Given the description of an element on the screen output the (x, y) to click on. 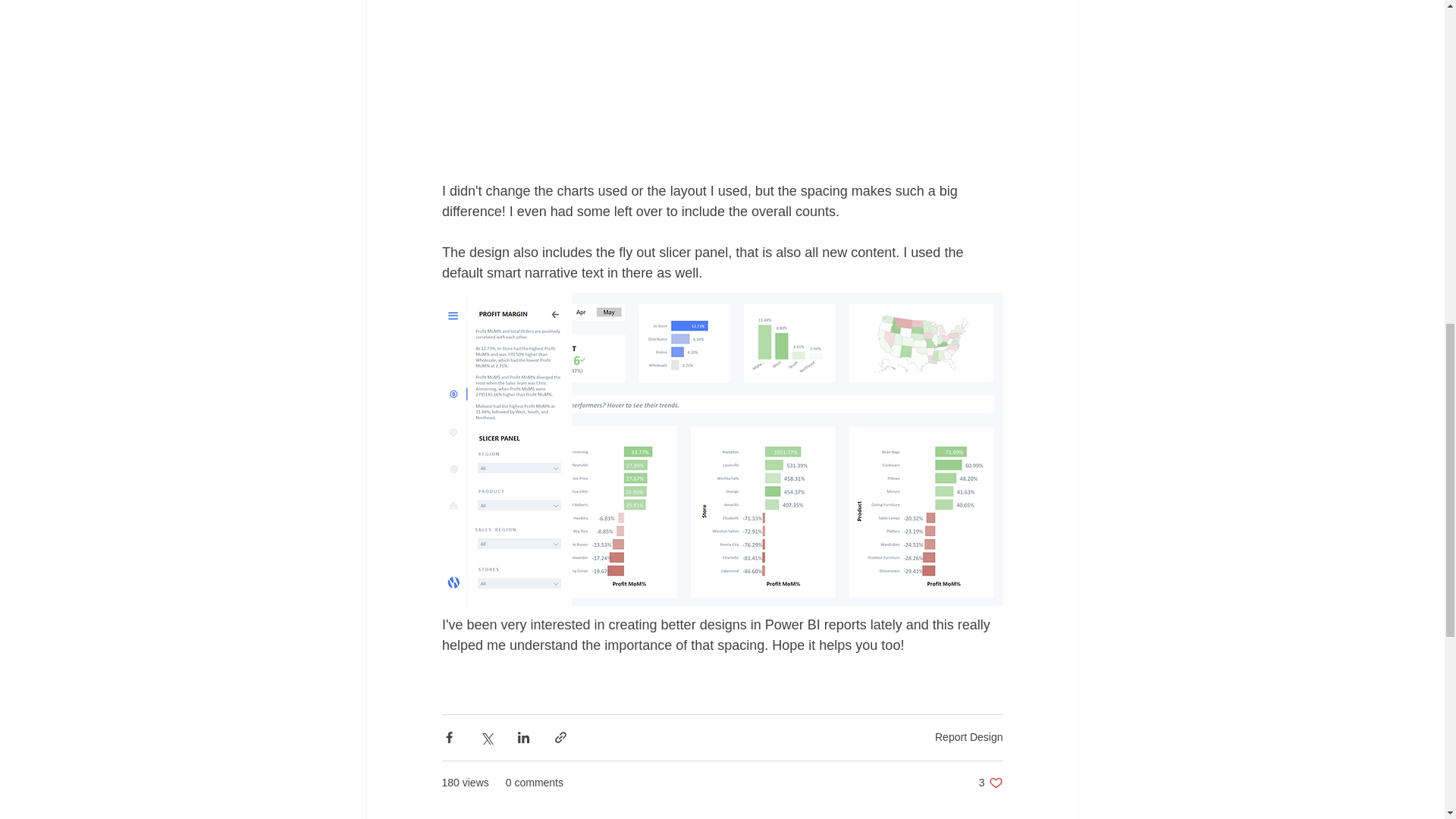
Report Design (990, 782)
remote content (968, 736)
